Given the description of an element on the screen output the (x, y) to click on. 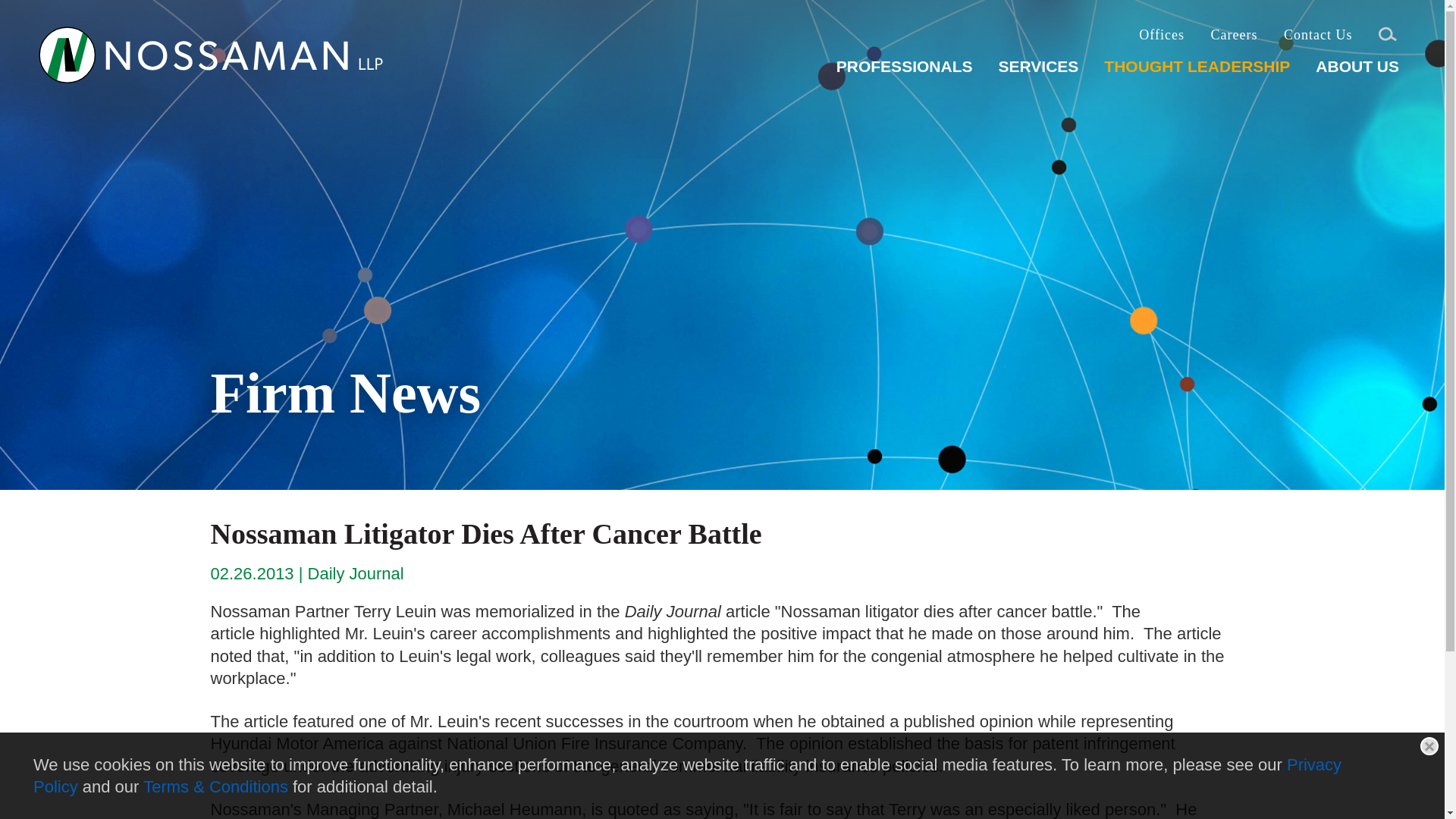
SERVICES (1037, 72)
PROFESSIONALS (904, 72)
